Given the description of an element on the screen output the (x, y) to click on. 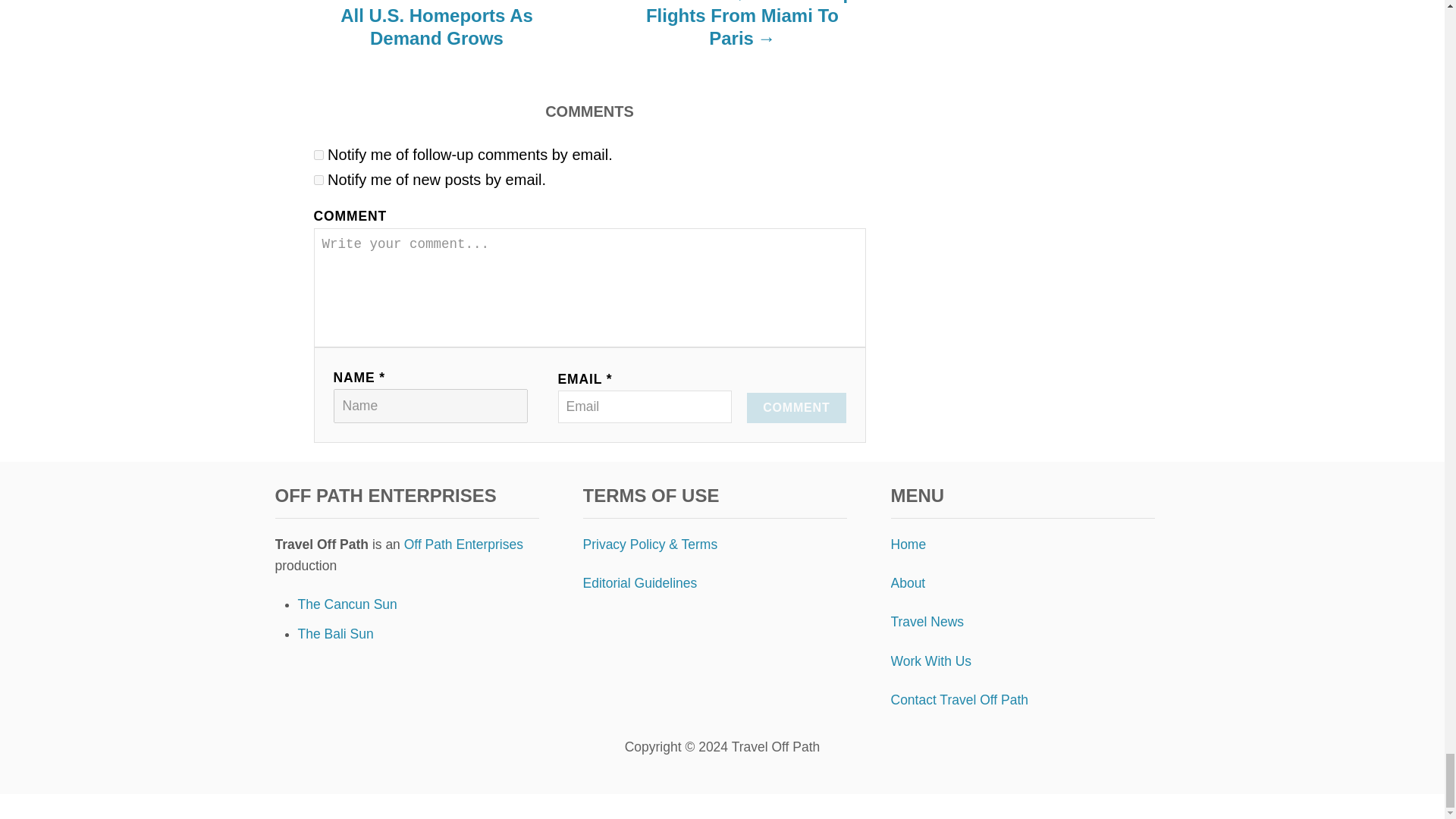
subscribe (318, 180)
subscribe (318, 154)
